Given the description of an element on the screen output the (x, y) to click on. 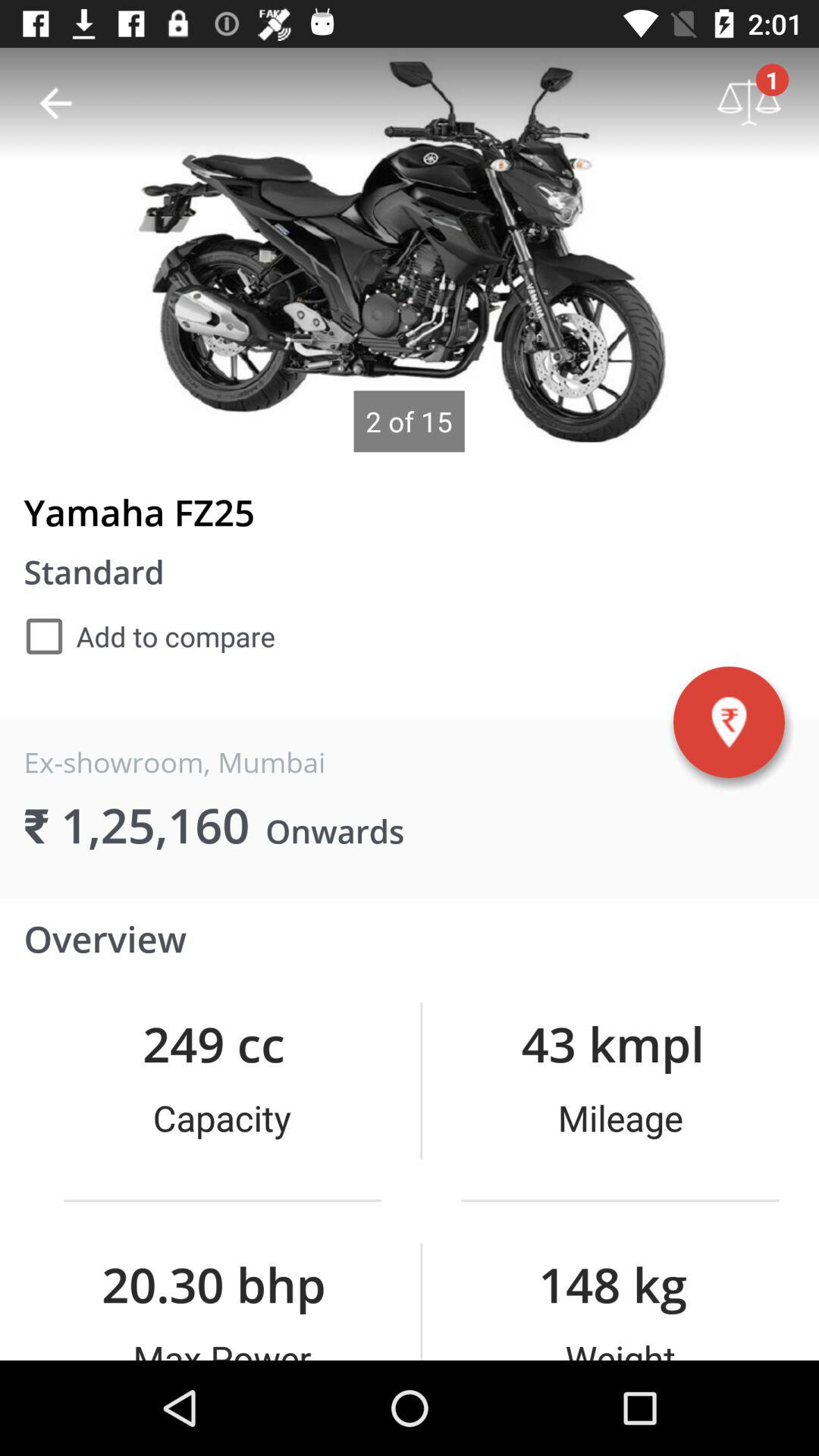
click the item next to the ex-showroom, mumbai item (729, 722)
